Given the description of an element on the screen output the (x, y) to click on. 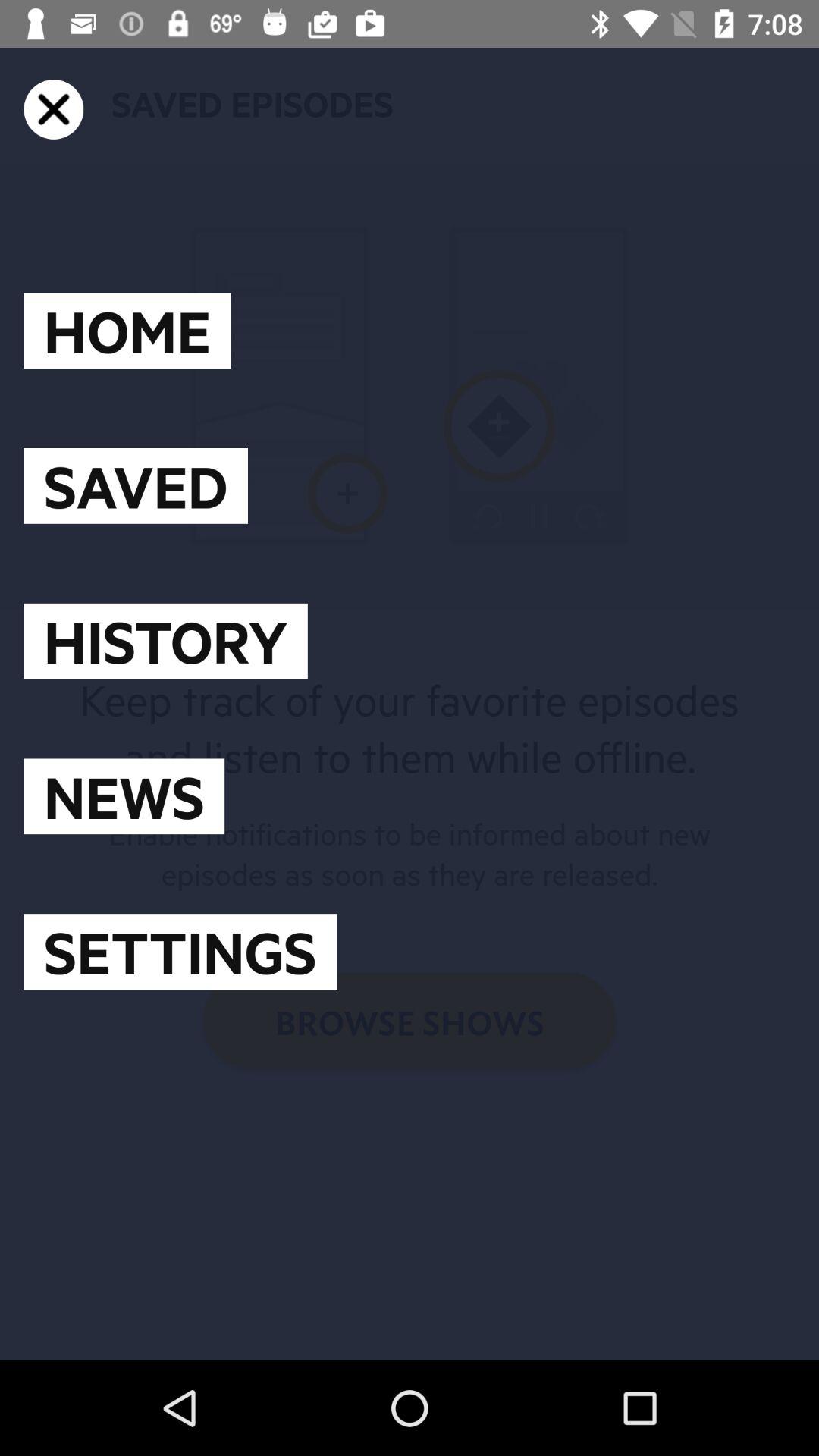
tap the icon below home (135, 485)
